Given the description of an element on the screen output the (x, y) to click on. 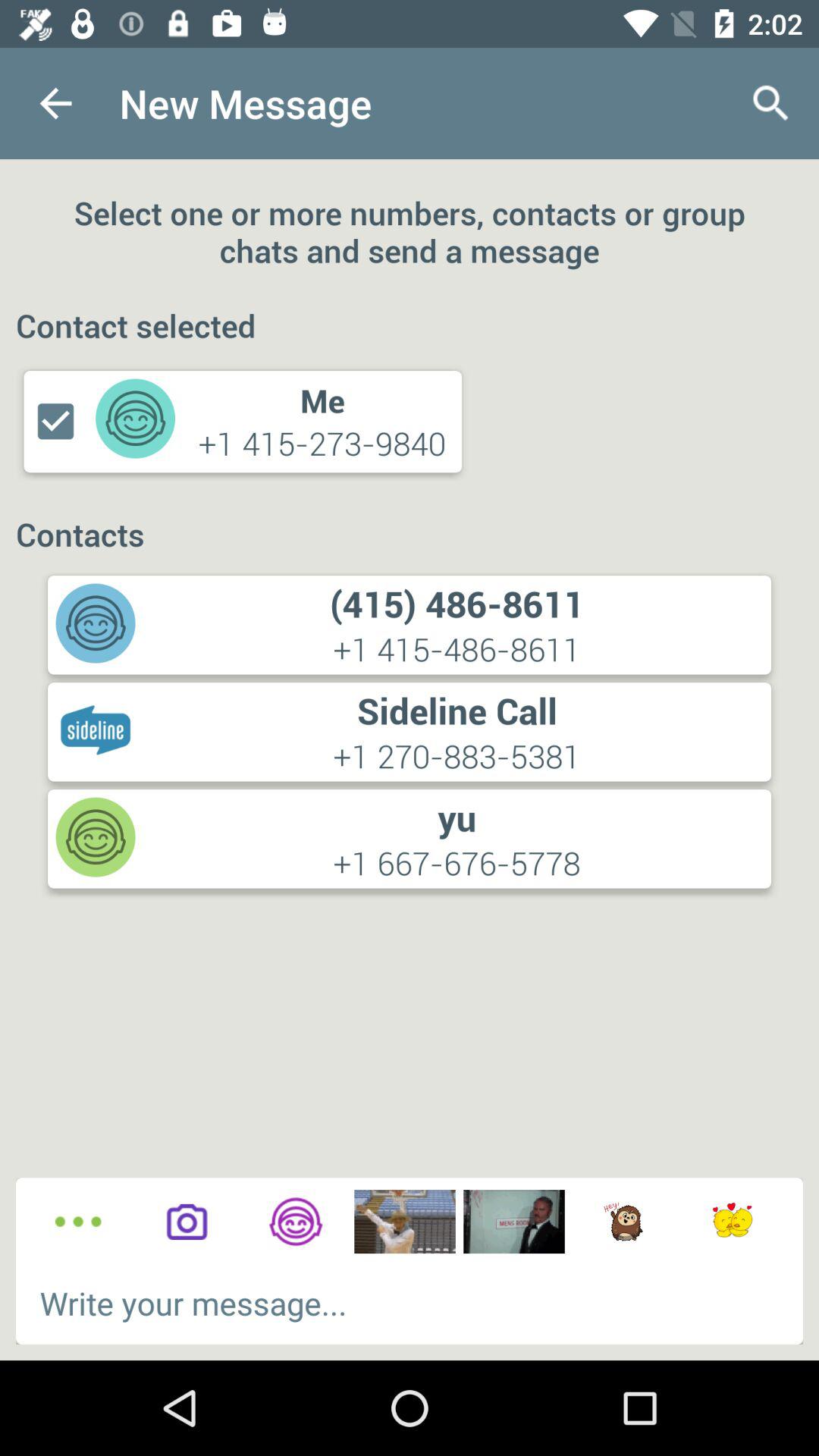
select image (404, 1221)
